Given the description of an element on the screen output the (x, y) to click on. 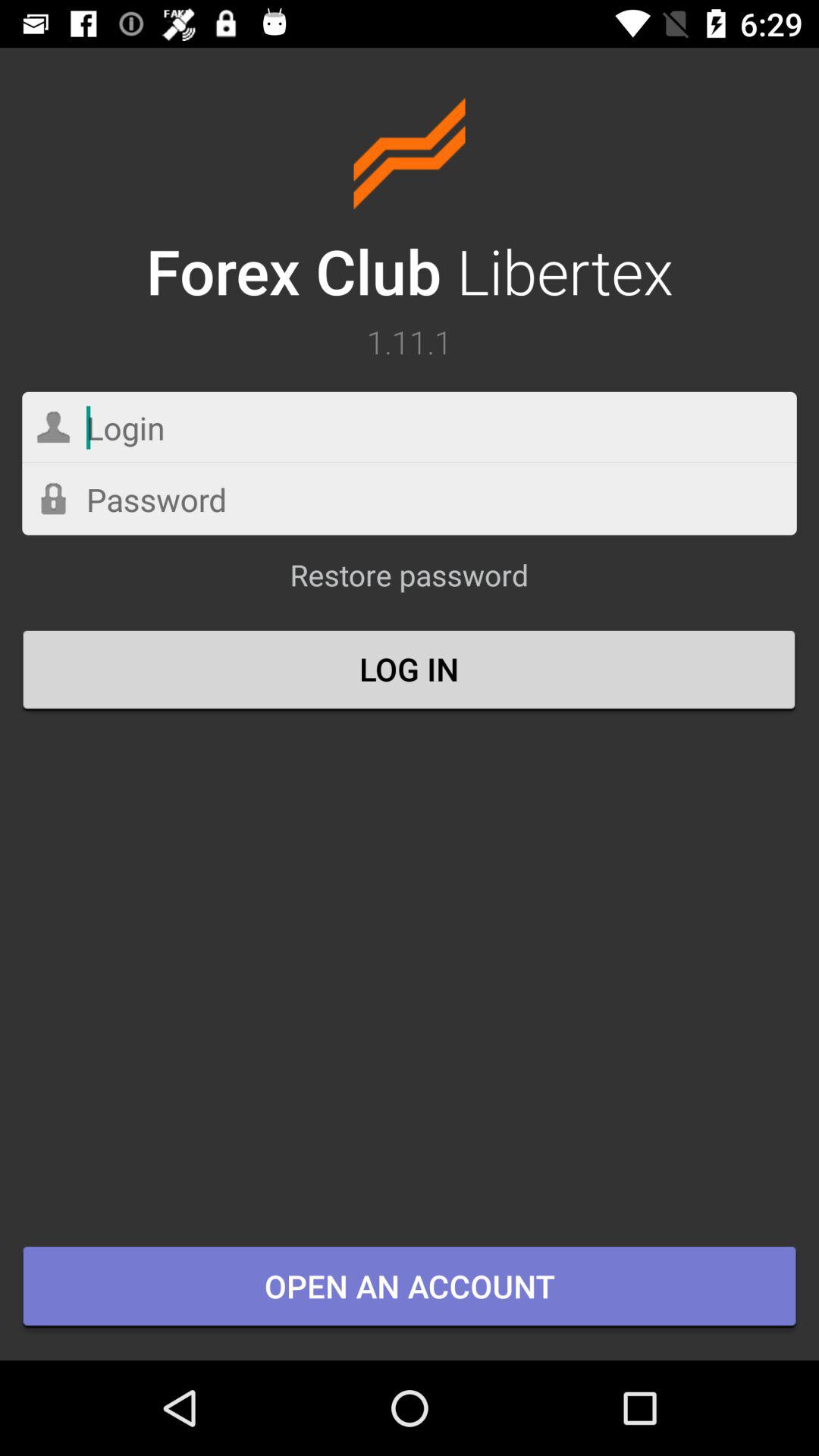
enter your login name (409, 427)
